Given the description of an element on the screen output the (x, y) to click on. 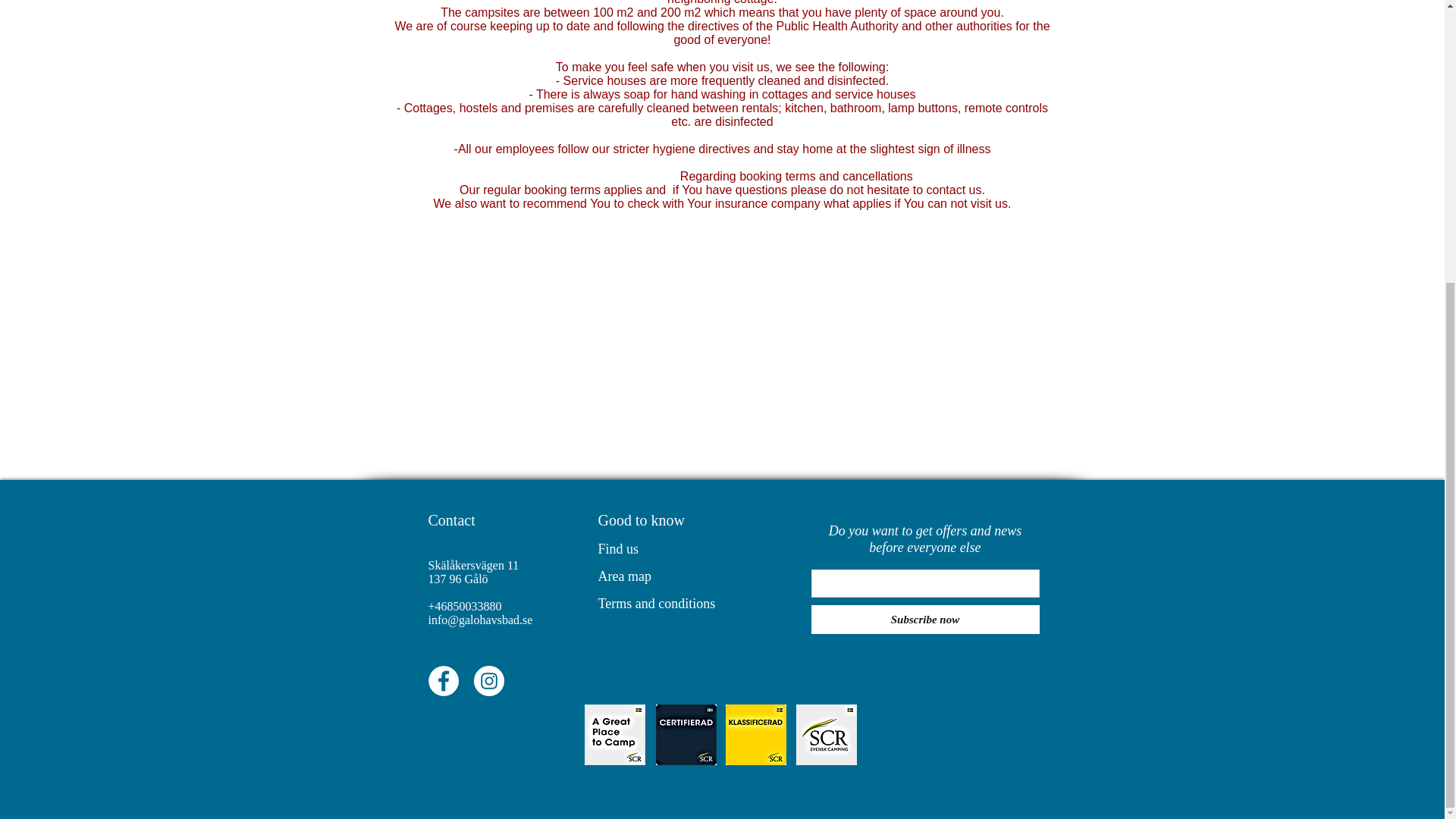
Area map (623, 575)
Terms and conditions (655, 603)
Find us (617, 548)
Subscribe now (924, 619)
